Given the description of an element on the screen output the (x, y) to click on. 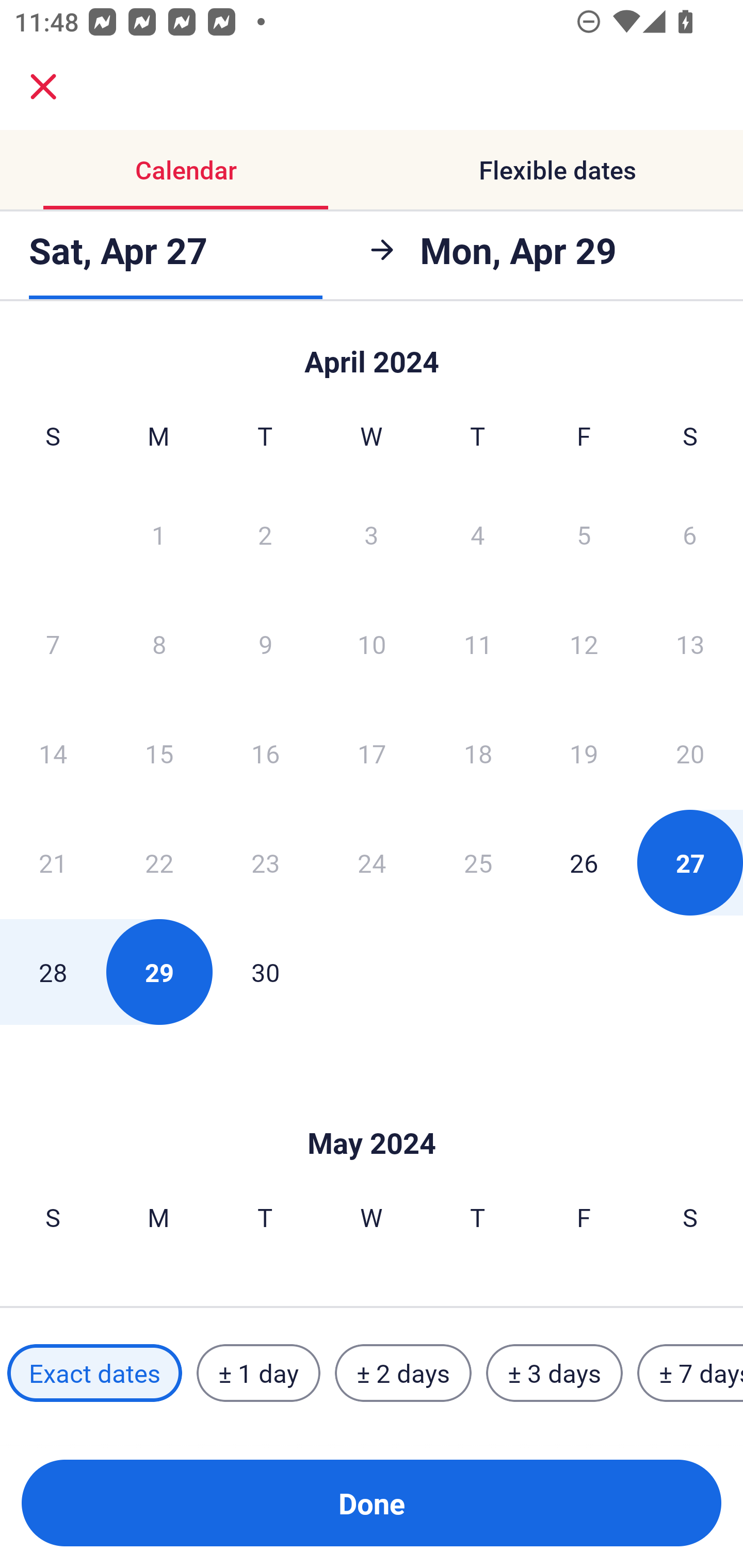
close. (43, 86)
Flexible dates (557, 170)
Skip to Done (371, 352)
1 Monday, April 1, 2024 (158, 534)
2 Tuesday, April 2, 2024 (264, 534)
3 Wednesday, April 3, 2024 (371, 534)
4 Thursday, April 4, 2024 (477, 534)
5 Friday, April 5, 2024 (583, 534)
6 Saturday, April 6, 2024 (689, 534)
7 Sunday, April 7, 2024 (53, 643)
8 Monday, April 8, 2024 (159, 643)
9 Tuesday, April 9, 2024 (265, 643)
10 Wednesday, April 10, 2024 (371, 643)
11 Thursday, April 11, 2024 (477, 643)
12 Friday, April 12, 2024 (584, 643)
13 Saturday, April 13, 2024 (690, 643)
14 Sunday, April 14, 2024 (53, 752)
15 Monday, April 15, 2024 (159, 752)
16 Tuesday, April 16, 2024 (265, 752)
17 Wednesday, April 17, 2024 (371, 752)
18 Thursday, April 18, 2024 (477, 752)
19 Friday, April 19, 2024 (584, 752)
20 Saturday, April 20, 2024 (690, 752)
21 Sunday, April 21, 2024 (53, 862)
22 Monday, April 22, 2024 (159, 862)
23 Tuesday, April 23, 2024 (265, 862)
24 Wednesday, April 24, 2024 (371, 862)
25 Thursday, April 25, 2024 (477, 862)
26 Friday, April 26, 2024 (584, 862)
30 Tuesday, April 30, 2024 (265, 971)
Skip to Done (371, 1112)
Exact dates (94, 1372)
± 1 day (258, 1372)
± 2 days (403, 1372)
± 3 days (553, 1372)
± 7 days (690, 1372)
Done (371, 1502)
